Given the description of an element on the screen output the (x, y) to click on. 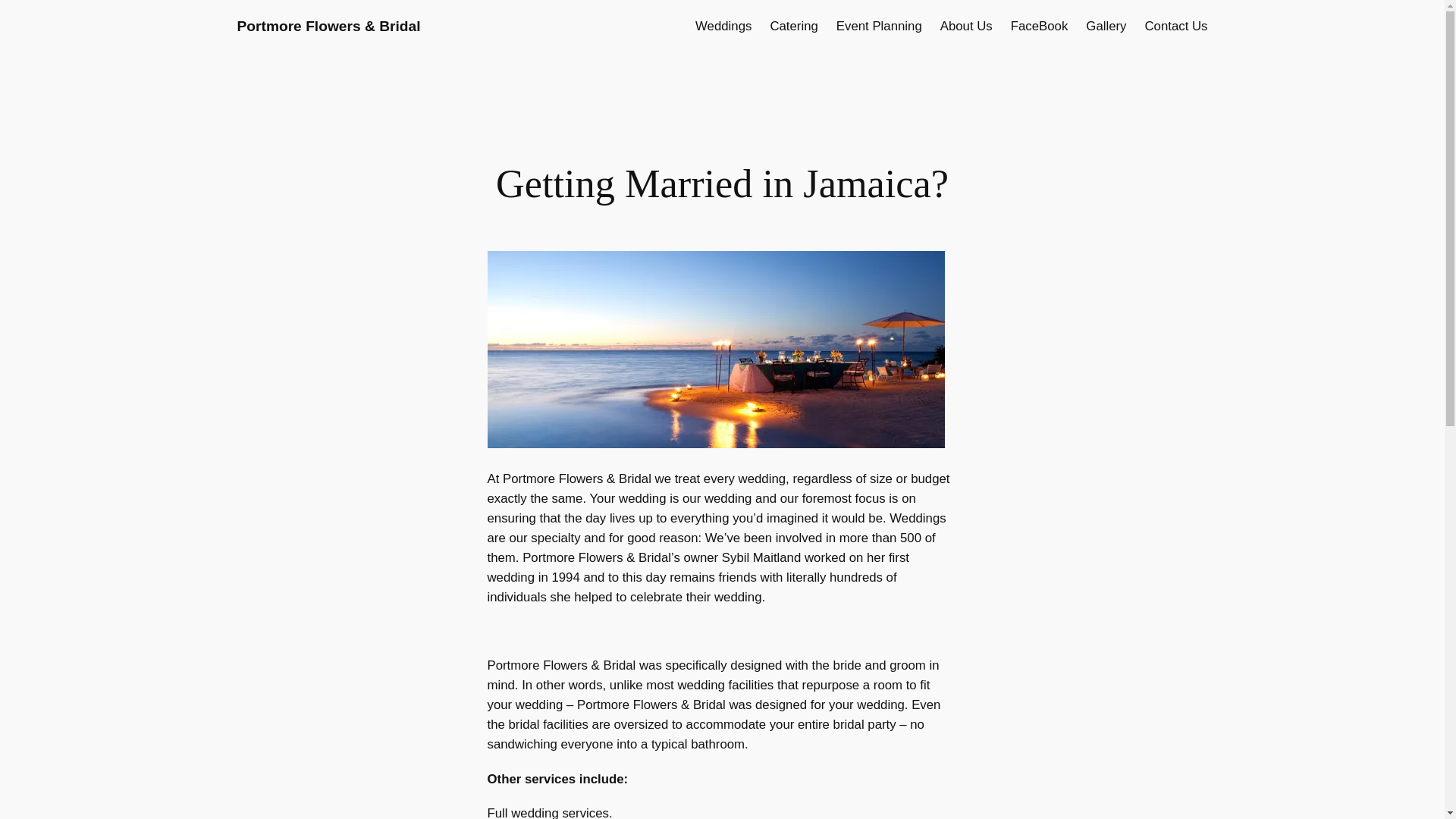
Contact Us (1175, 26)
Weddings (723, 26)
FaceBook (1039, 26)
Event Planning (878, 26)
About Us (966, 26)
Gallery (1105, 26)
Catering (793, 26)
